Given the description of an element on the screen output the (x, y) to click on. 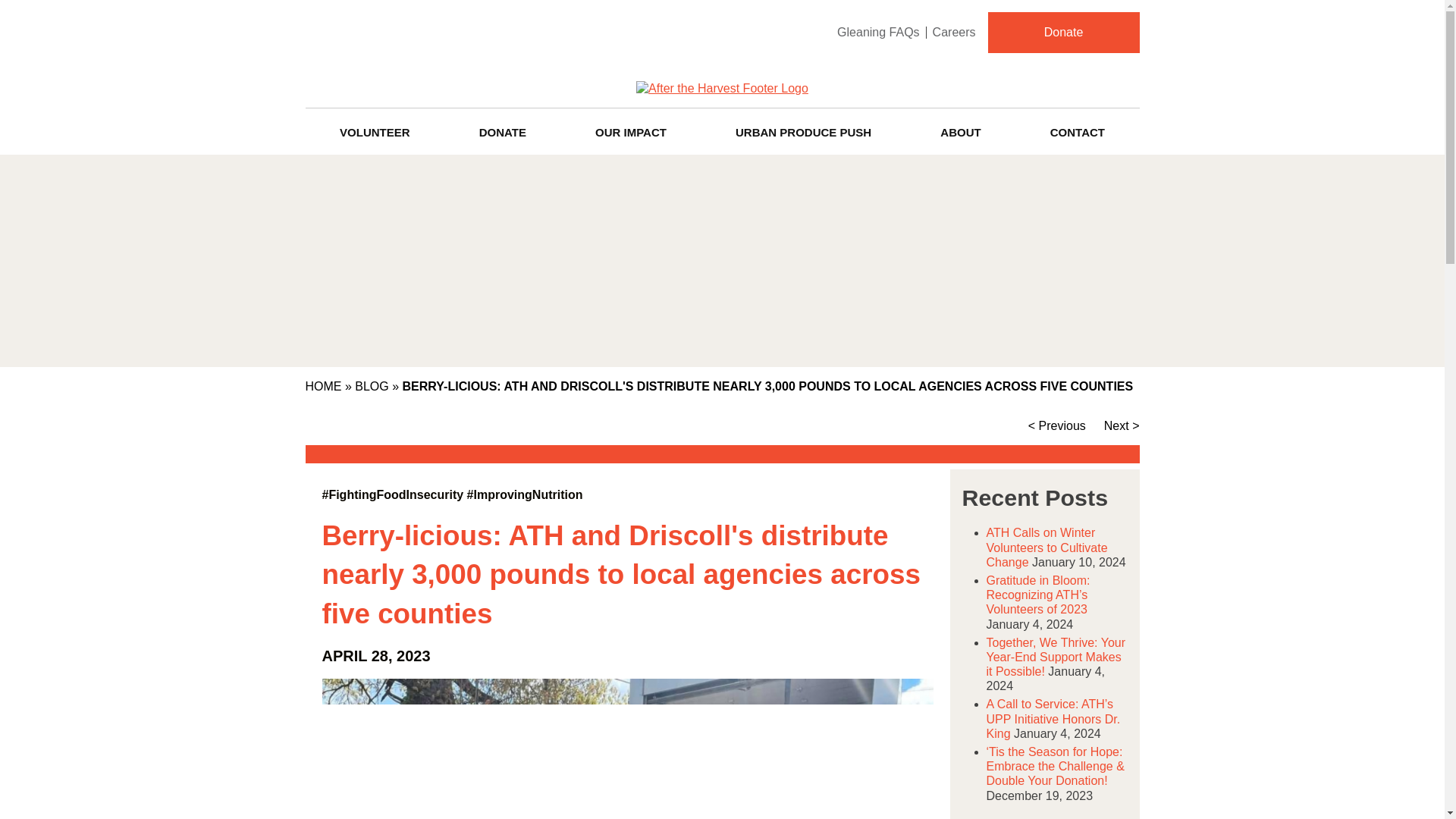
VOLUNTEER (374, 129)
OUR IMPACT (630, 129)
DONATE (502, 129)
Donate (1062, 32)
Gleaning FAQs (878, 31)
ABOUT (959, 129)
BLOG (371, 386)
CONTACT (1076, 129)
URBAN PRODUCE PUSH (802, 129)
Careers (954, 31)
